Given the description of an element on the screen output the (x, y) to click on. 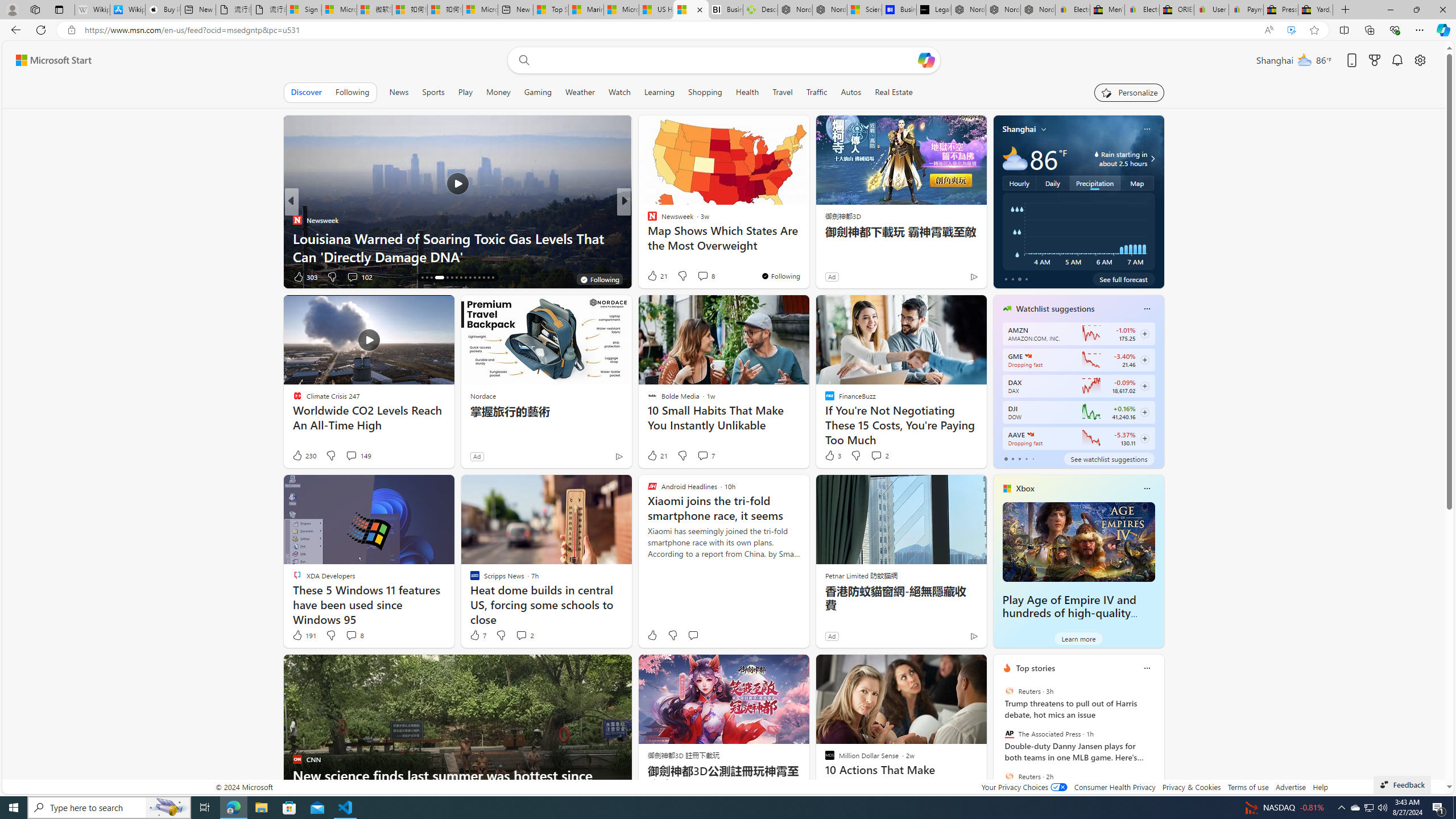
When did humans start wearing clothes? (807, 256)
Mostly cloudy (1014, 158)
What to know about Telegram CEO Pavel Durov (807, 256)
tab-3 (1025, 458)
View comments 102 Comment (359, 276)
Precipitation (1094, 183)
Personalize your feed" (1129, 92)
